Given the description of an element on the screen output the (x, y) to click on. 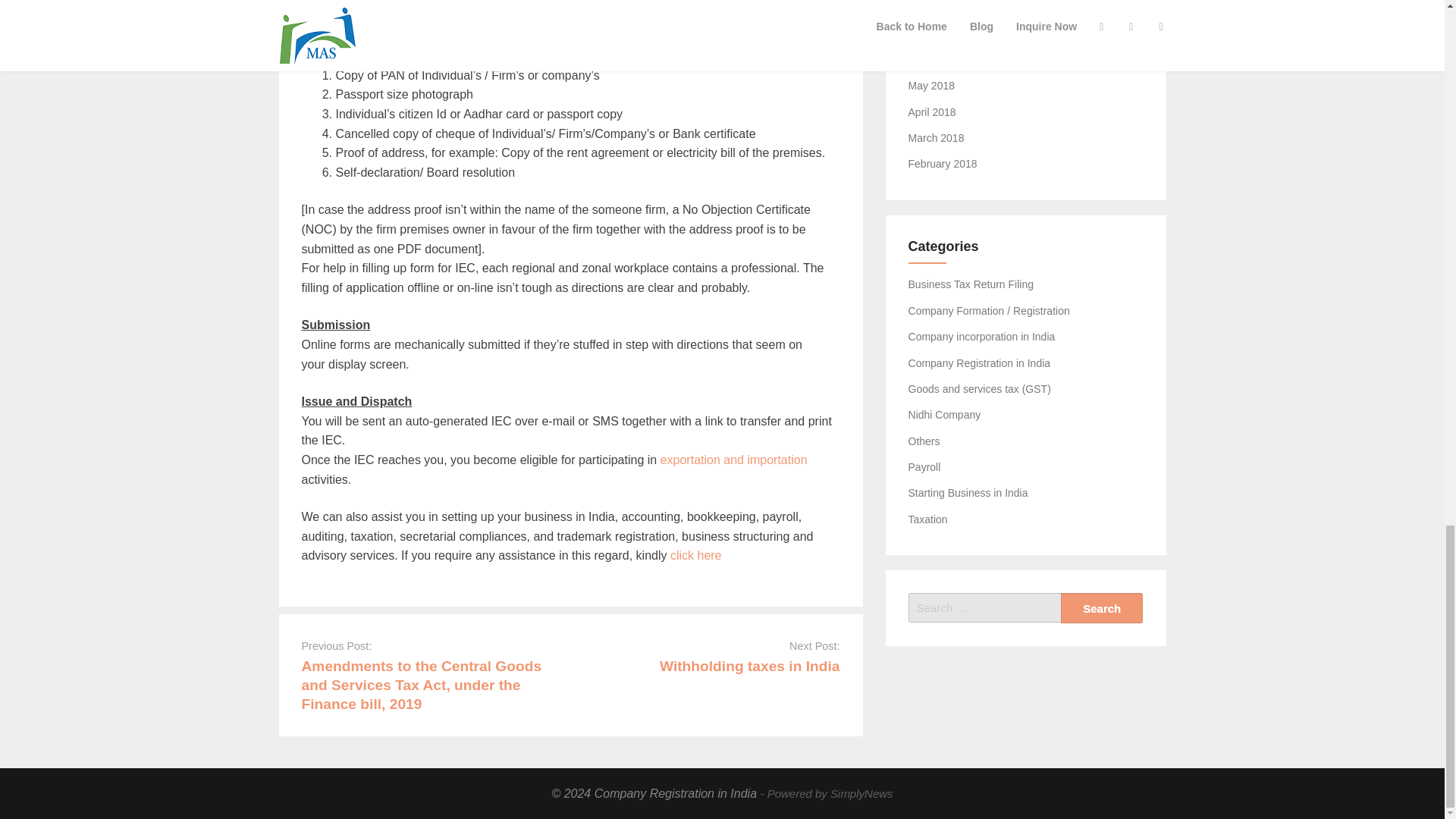
exportation and importation (734, 459)
Search (1101, 607)
Search (1101, 607)
click here (695, 554)
Withholding taxes in India (749, 666)
